Given the description of an element on the screen output the (x, y) to click on. 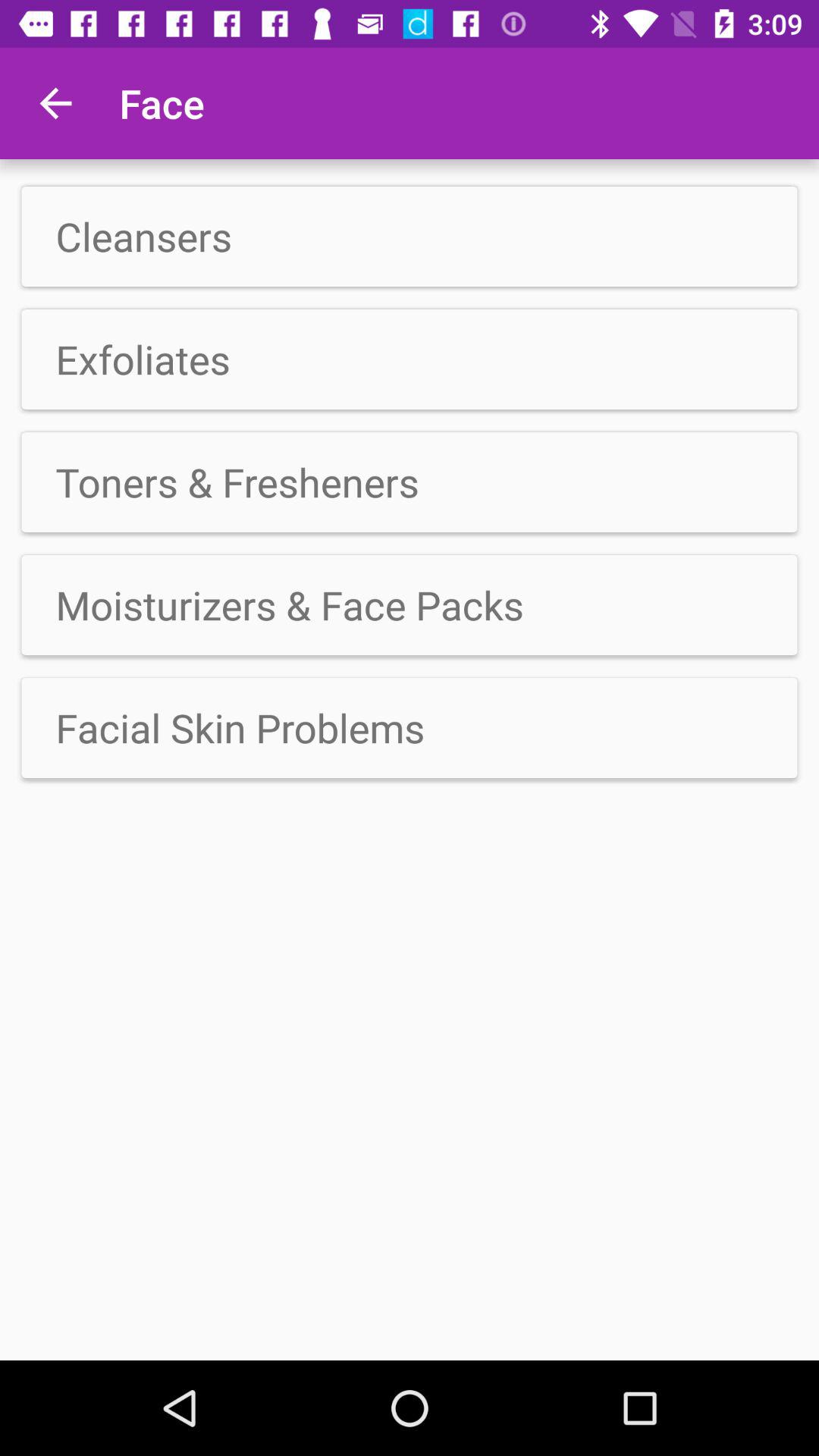
turn off icon below exfoliates app (409, 482)
